Given the description of an element on the screen output the (x, y) to click on. 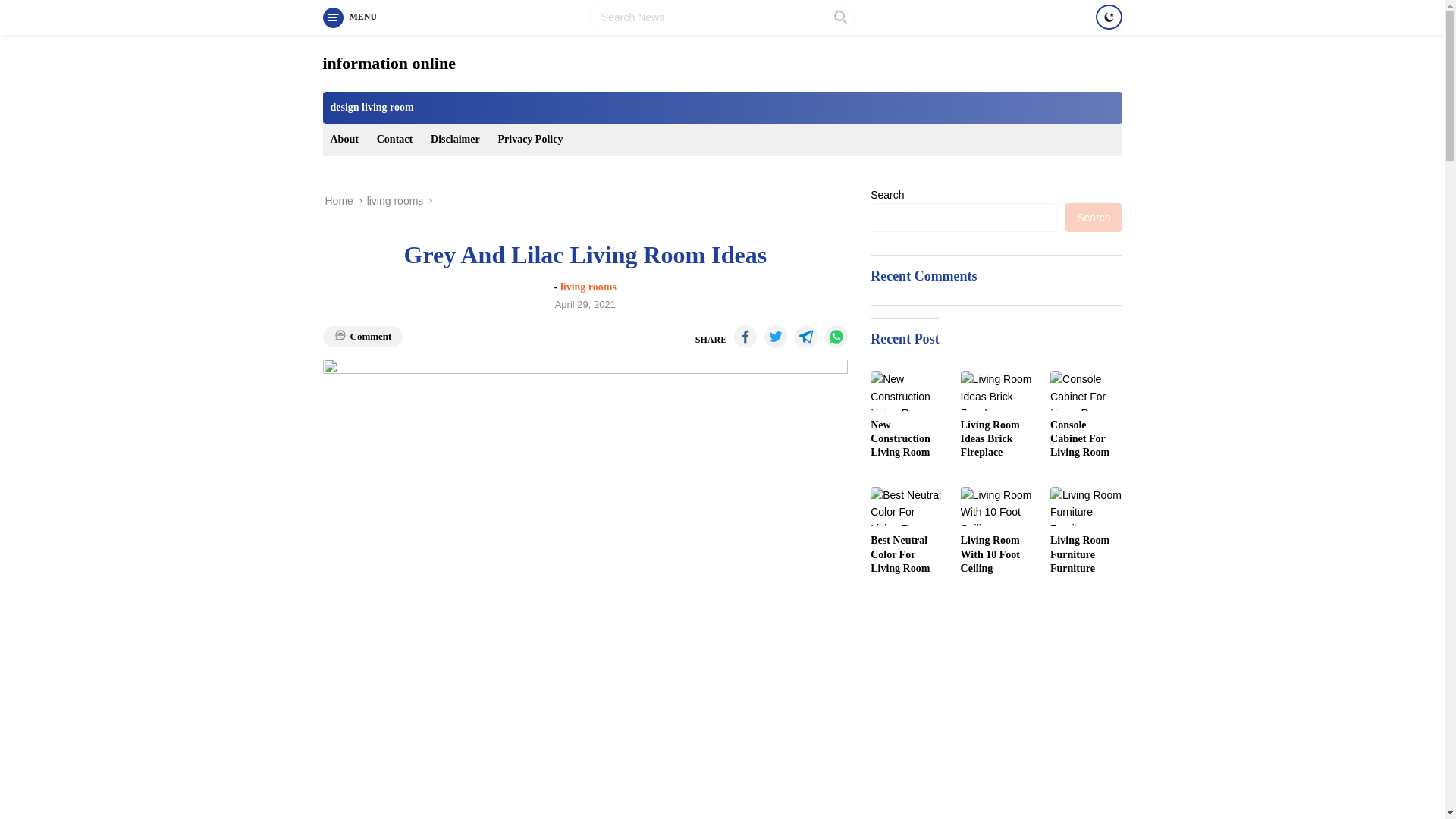
Privacy Policy (529, 139)
Contact (394, 139)
information online (389, 63)
living rooms (394, 200)
Dark Mode (1107, 16)
Home (338, 200)
information online (389, 63)
Disclaimer (455, 139)
Telegram Share (805, 336)
living rooms (587, 286)
